Given the description of an element on the screen output the (x, y) to click on. 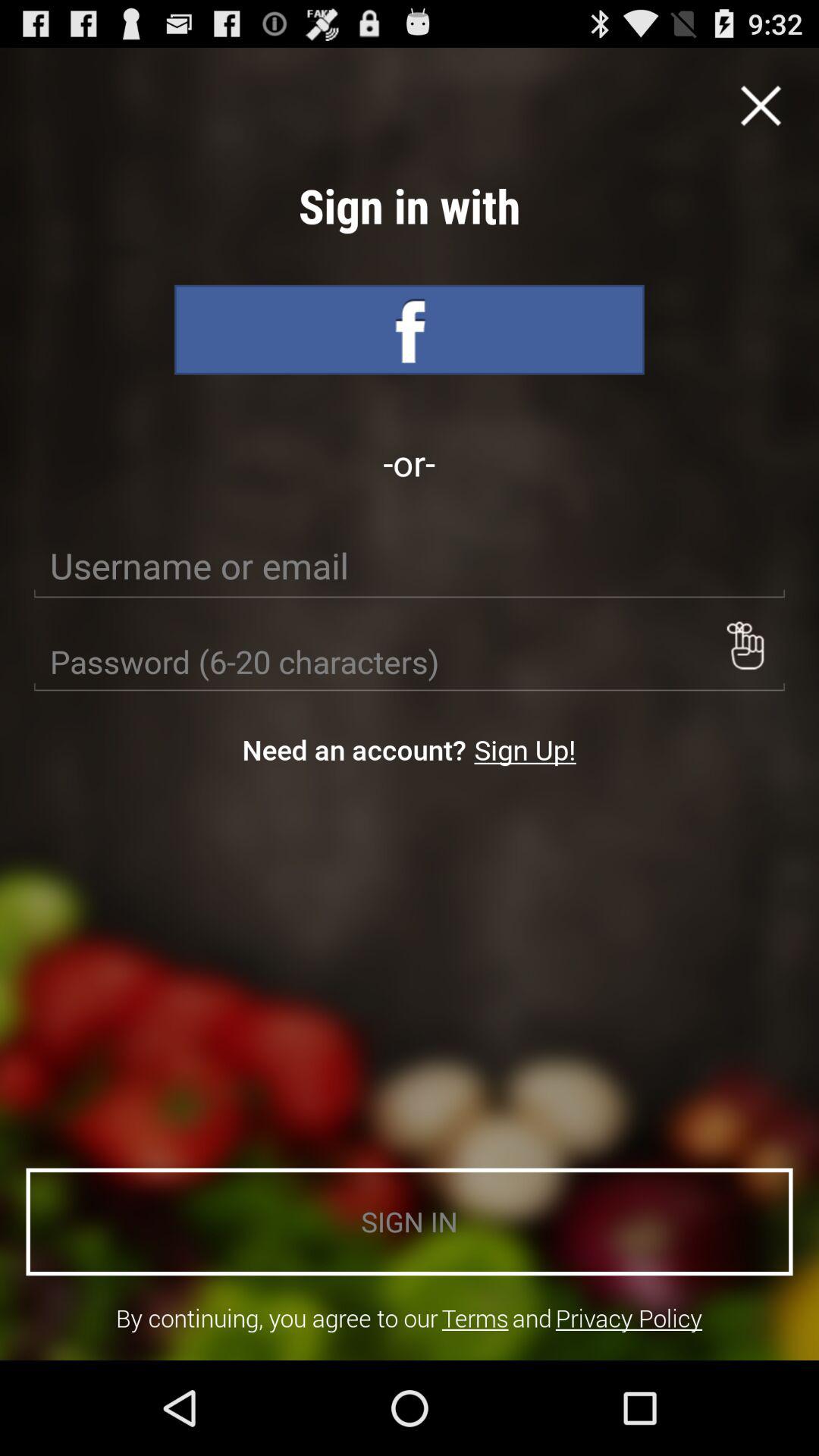
sign in with facebook (409, 329)
